Given the description of an element on the screen output the (x, y) to click on. 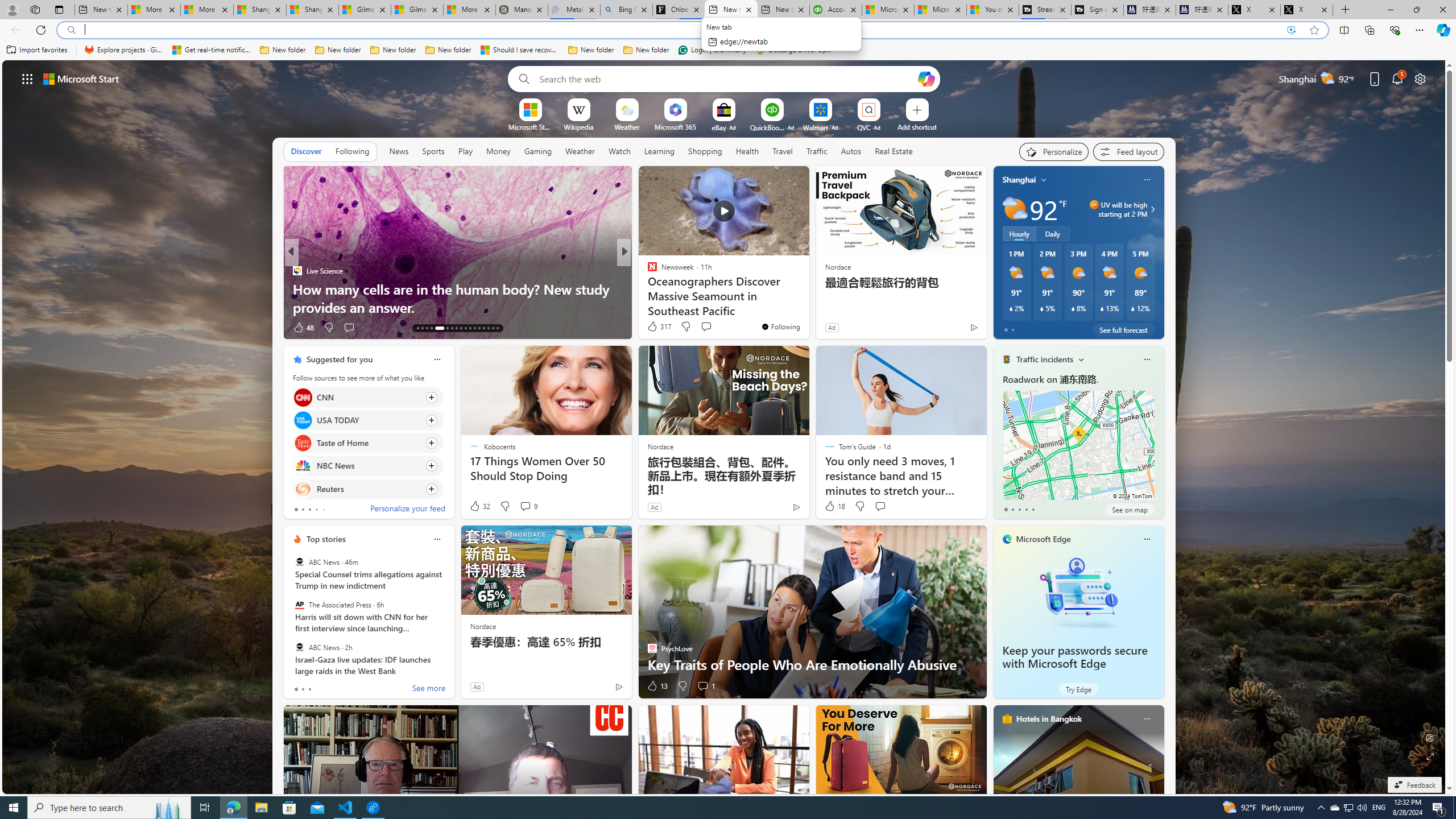
Avoid These 20 Phrases for a Successful Job Interview (807, 298)
Feed settings (1128, 151)
MetroOpinion (663, 288)
TODAY (647, 270)
Traffic (816, 151)
Start the conversation (880, 505)
Weather (579, 151)
Shanghai (1018, 179)
News (398, 151)
Accounting Software for Accountants, CPAs and Bookkeepers (835, 9)
Shopping (705, 151)
Learning (659, 151)
Gaming (537, 151)
Bing Real Estate - Home sales and rental listings (626, 9)
